Given the description of an element on the screen output the (x, y) to click on. 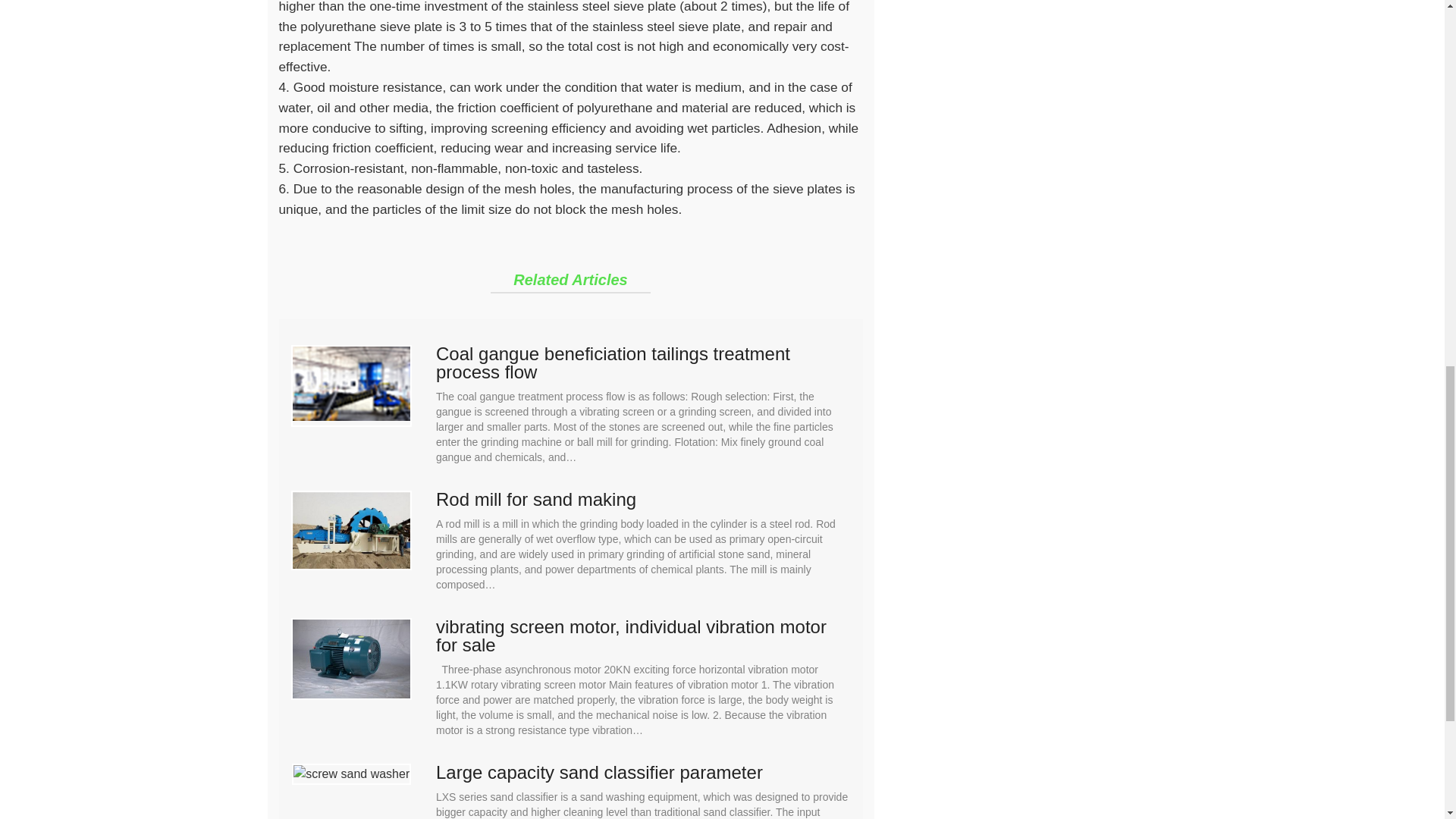
Coal gangue beneficiation tailings treatment process flow (643, 362)
Rod mill for sand making (643, 499)
Large capacity sand classifier parameter (643, 772)
vibrating screen motor, individual vibration motor for sale (643, 636)
